Given the description of an element on the screen output the (x, y) to click on. 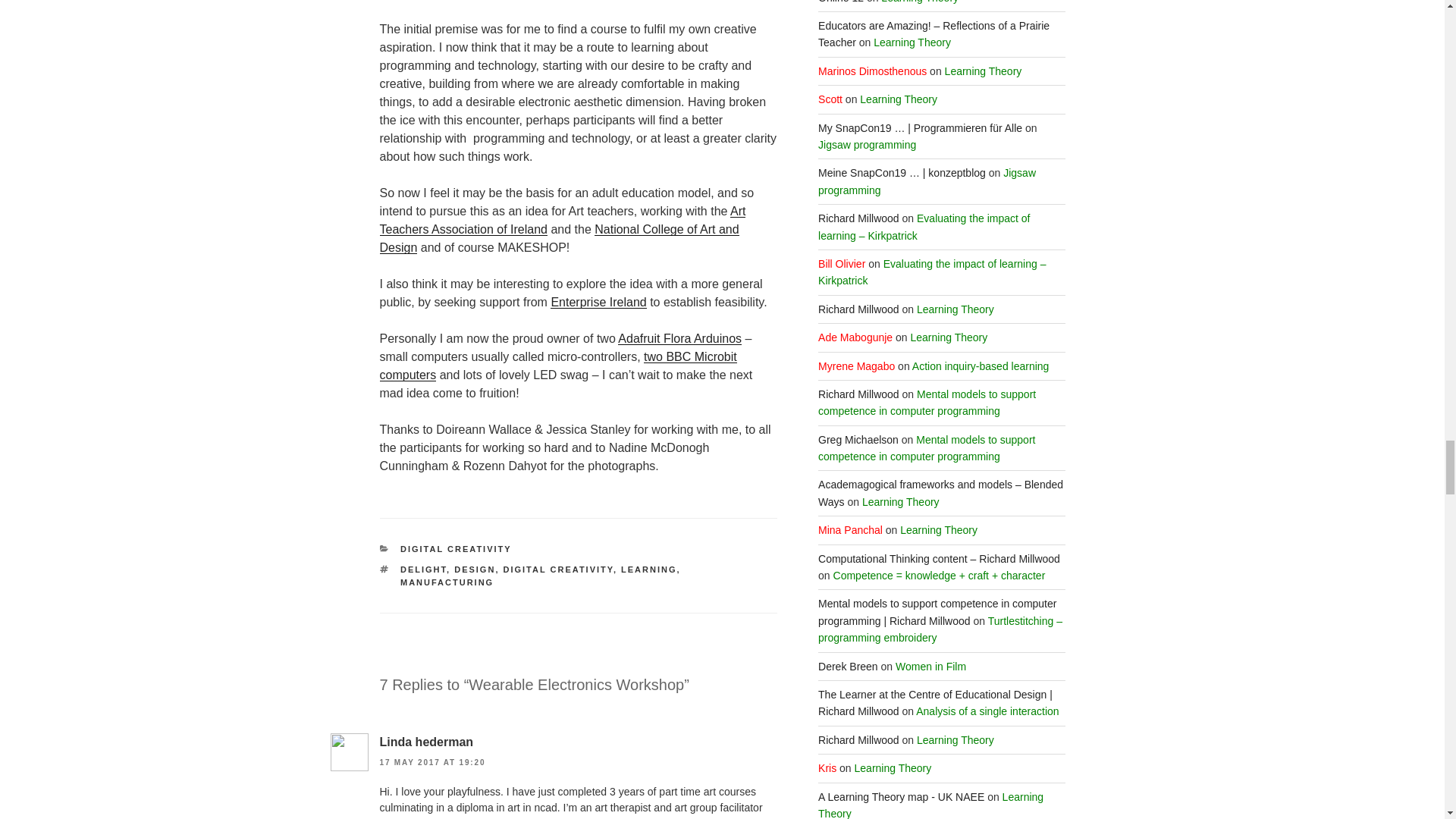
Enterprise Ireland (598, 301)
two BBC Microbit computers (557, 365)
Art Teachers Association of Ireland (561, 219)
Adafruit Flora Arduinos (679, 338)
National College of Art and Design (558, 237)
